Given the description of an element on the screen output the (x, y) to click on. 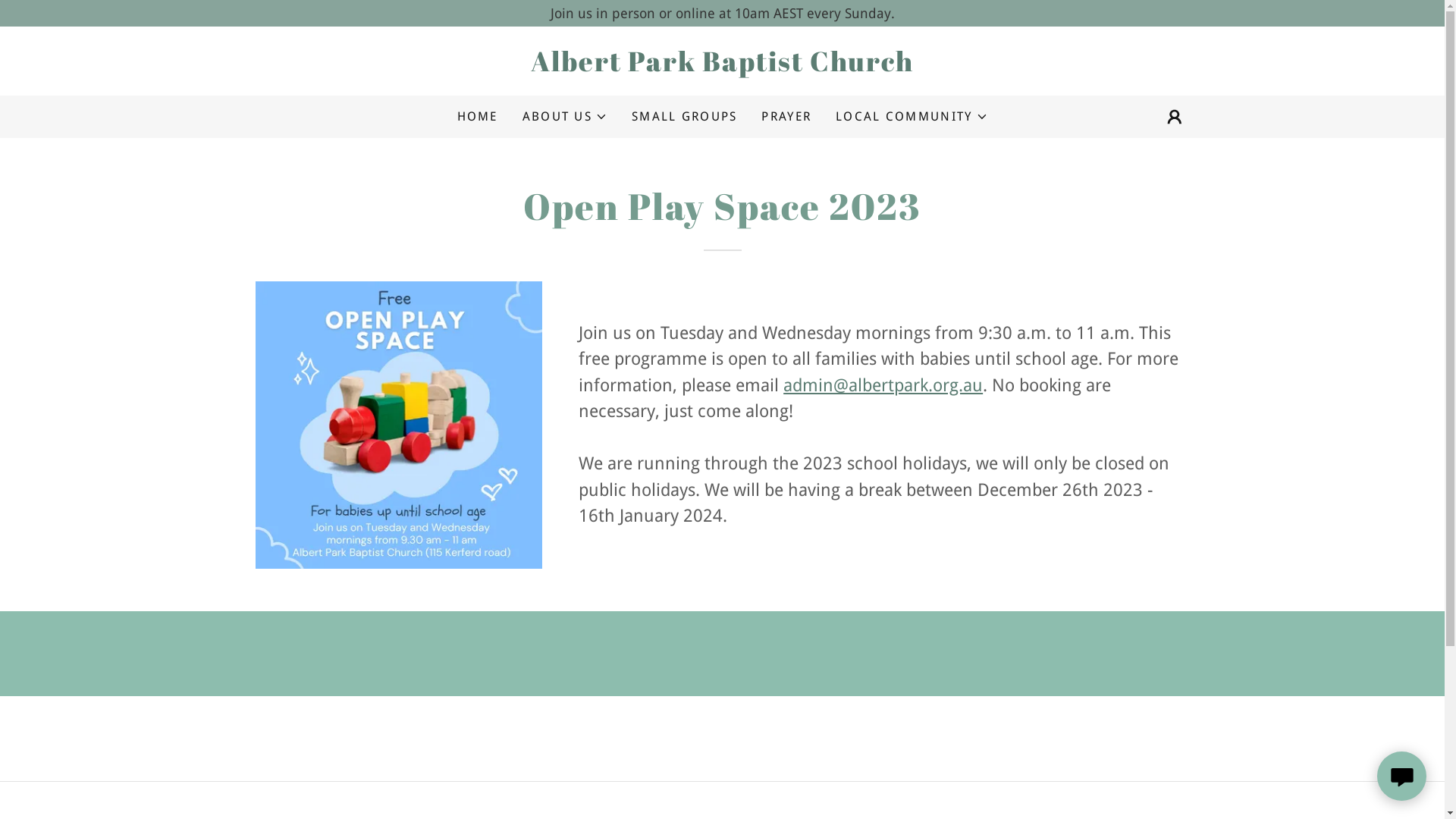
HOME Element type: text (476, 116)
Albert Park Baptist Church Element type: text (721, 66)
ABOUT US Element type: text (564, 116)
SMALL GROUPS Element type: text (684, 116)
PRAYER Element type: text (785, 116)
admin@albertpark.org.au Element type: text (882, 385)
Join us in person or online at 10am AEST every Sunday. Element type: text (722, 13)
LOCAL COMMUNITY Element type: text (911, 116)
